Given the description of an element on the screen output the (x, y) to click on. 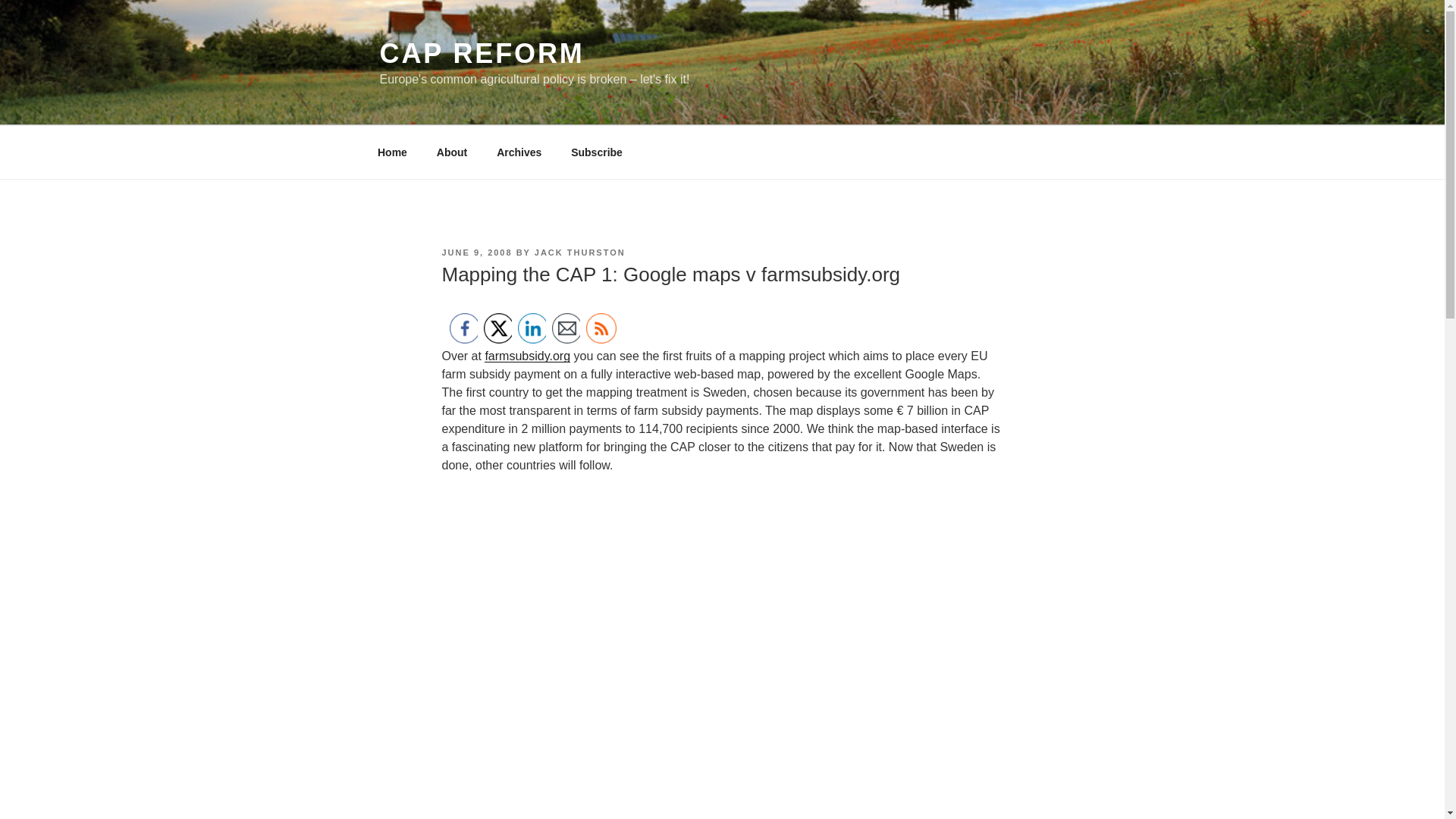
RSS (600, 327)
TWITTER (498, 327)
About (451, 151)
Subscribe (596, 151)
Archives (518, 151)
farmsubsidy.org (527, 355)
EMAIL (566, 327)
Home (392, 151)
LINKEDIN (531, 327)
JACK THURSTON (580, 252)
FACEBOOK (463, 327)
CAP REFORM (480, 52)
JUNE 9, 2008 (476, 252)
